Given the description of an element on the screen output the (x, y) to click on. 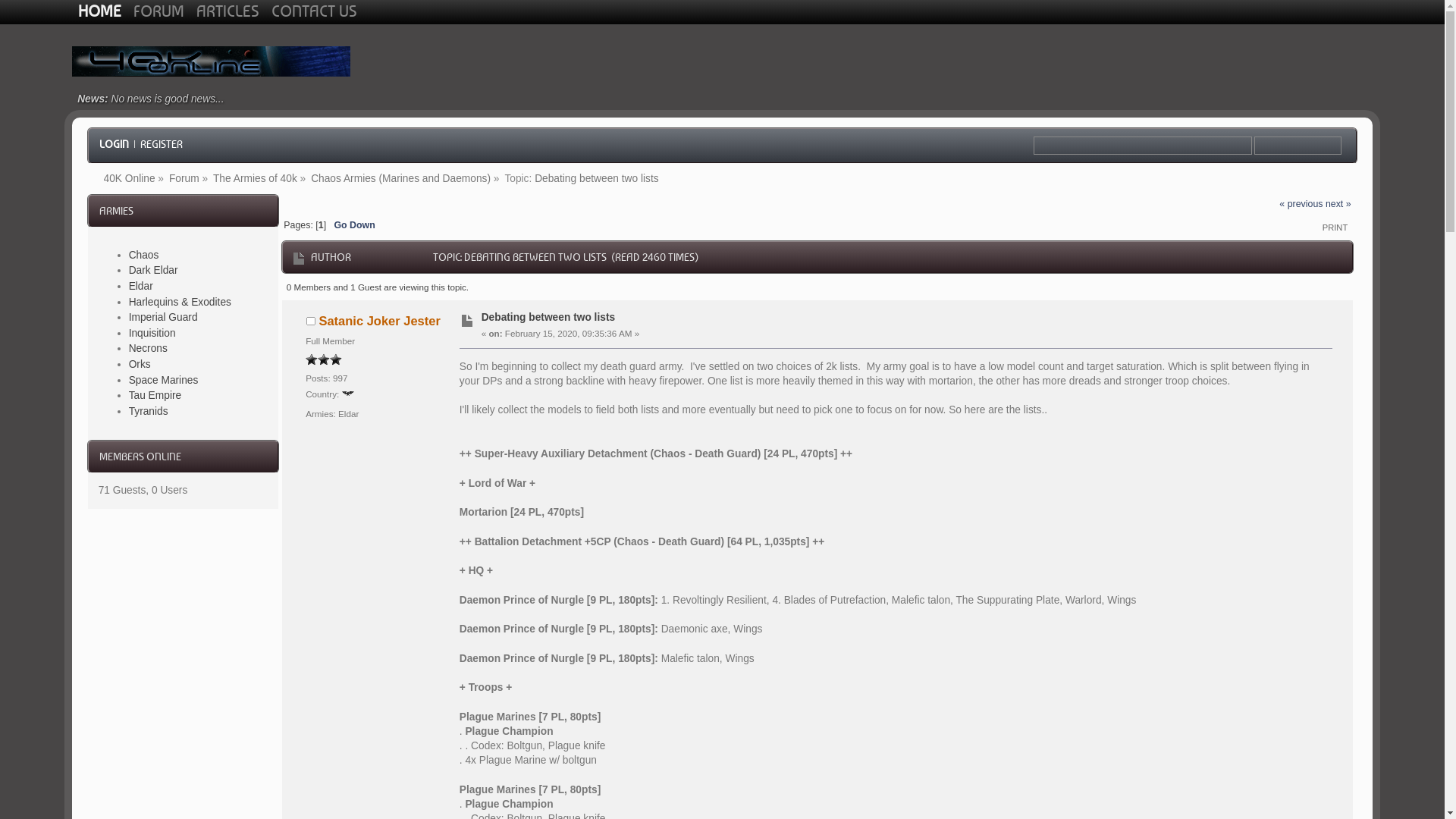
ARTICLES Element type: text (227, 11)
Tau Empire Element type: text (155, 395)
HOME Element type: text (99, 11)
Go Down Element type: text (353, 224)
Space Marines Element type: text (163, 379)
Inquisition Element type: text (151, 332)
CONTACT US Element type: text (314, 11)
Harlequins & Exodites Element type: text (179, 301)
Tyranids Element type: text (148, 411)
Debating between two lists Element type: text (596, 178)
Imperial Guard Element type: text (162, 317)
Debating between two lists Element type: text (548, 317)
Chaos Element type: text (143, 254)
Orks Element type: text (139, 364)
Chaos Armies (Marines and Daemons) Element type: text (400, 178)
Satanic Joker Jester Element type: text (379, 320)
  Element type: text (1297, 145)
Forum Element type: text (184, 178)
https://www.facebook.com/40KOnline Element type: hover (1329, 61)
40K Online Element type: text (128, 178)
Necrons Element type: text (147, 348)
REGISTER Element type: text (161, 143)
The Armies of 40k Element type: text (255, 178)
Dark Eldar Element type: text (153, 270)
Eldar Element type: text (140, 285)
LOGIN Element type: text (113, 143)
FORUM Element type: text (158, 11)
PRINT Element type: text (1334, 226)
